Given the description of an element on the screen output the (x, y) to click on. 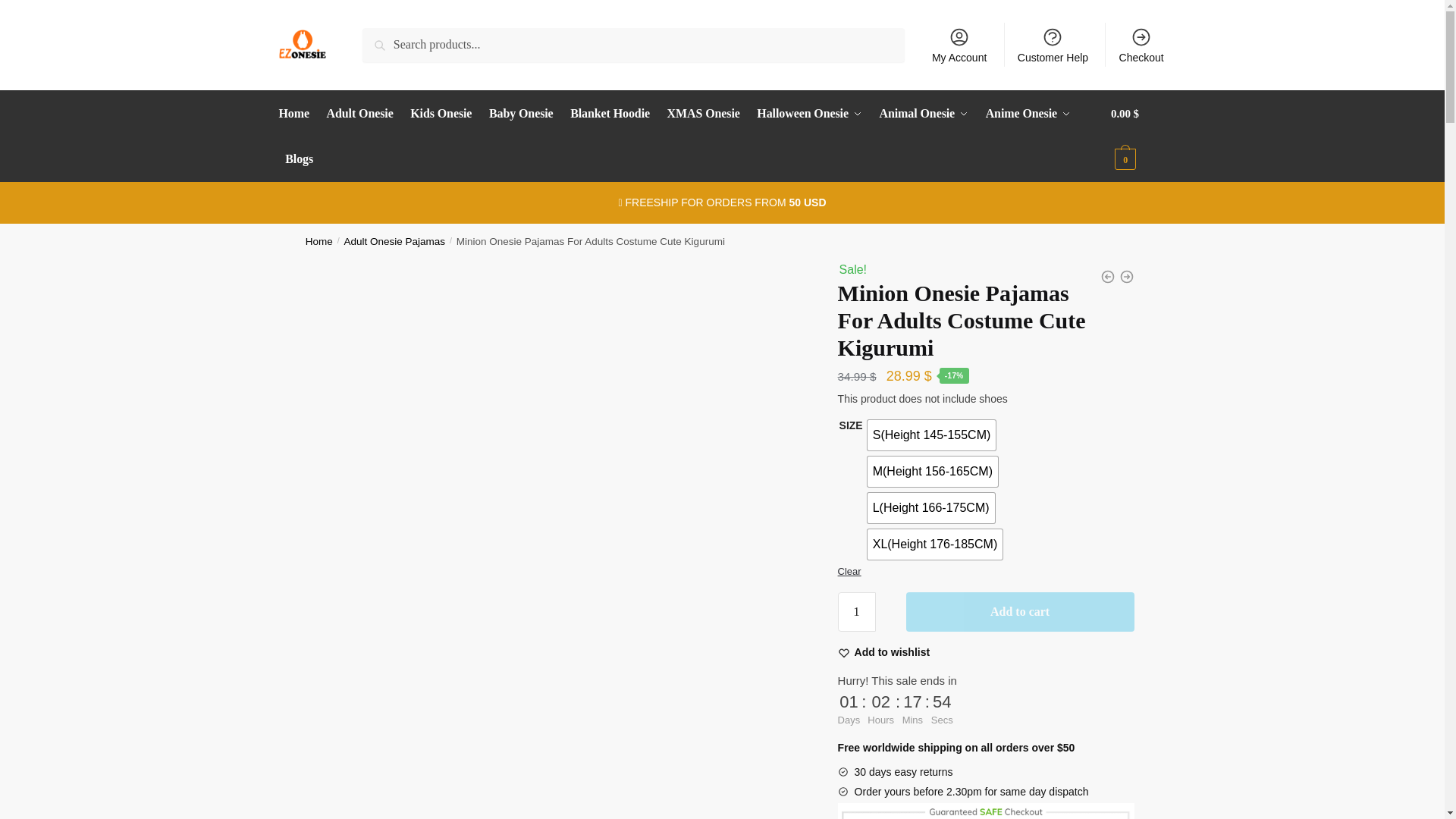
Animal Onesie (923, 113)
Customer Help (1053, 44)
Anime Onesie (1027, 113)
Checkout (1141, 44)
XMAS Onesie (703, 113)
My Account (959, 44)
Blogs (299, 158)
Blanket Hoodie (609, 113)
Search (398, 46)
1 (857, 611)
Halloween Onesie (810, 113)
Adult Onesie (360, 113)
Kids Onesie (441, 113)
Baby Onesie (520, 113)
Qty (857, 611)
